Given the description of an element on the screen output the (x, y) to click on. 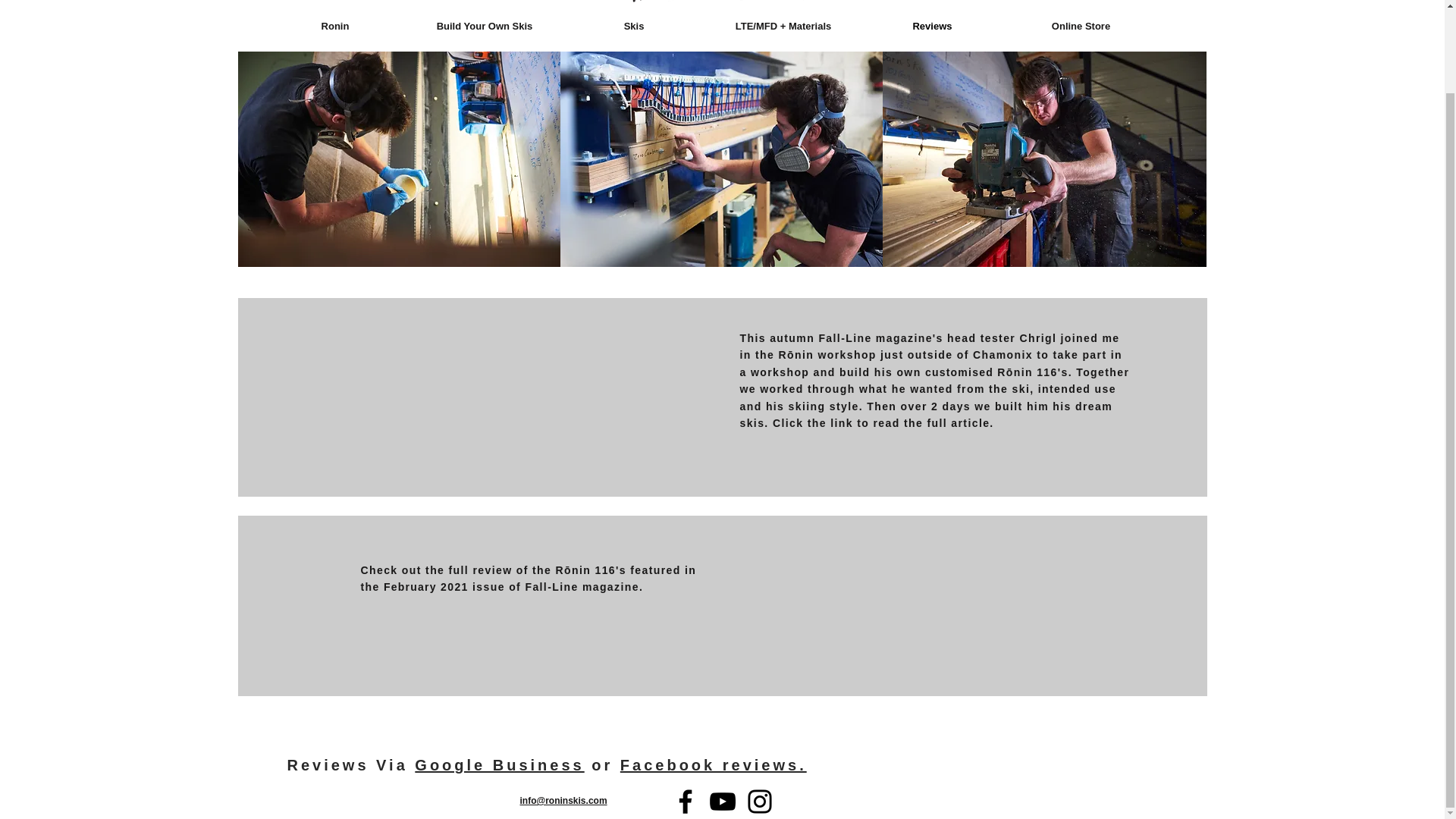
Ronin (335, 25)
Build Your Own Skis (484, 25)
Google Business (498, 764)
Online Store (1081, 25)
Reviews (933, 25)
Facebook reviews. (713, 764)
